Given the description of an element on the screen output the (x, y) to click on. 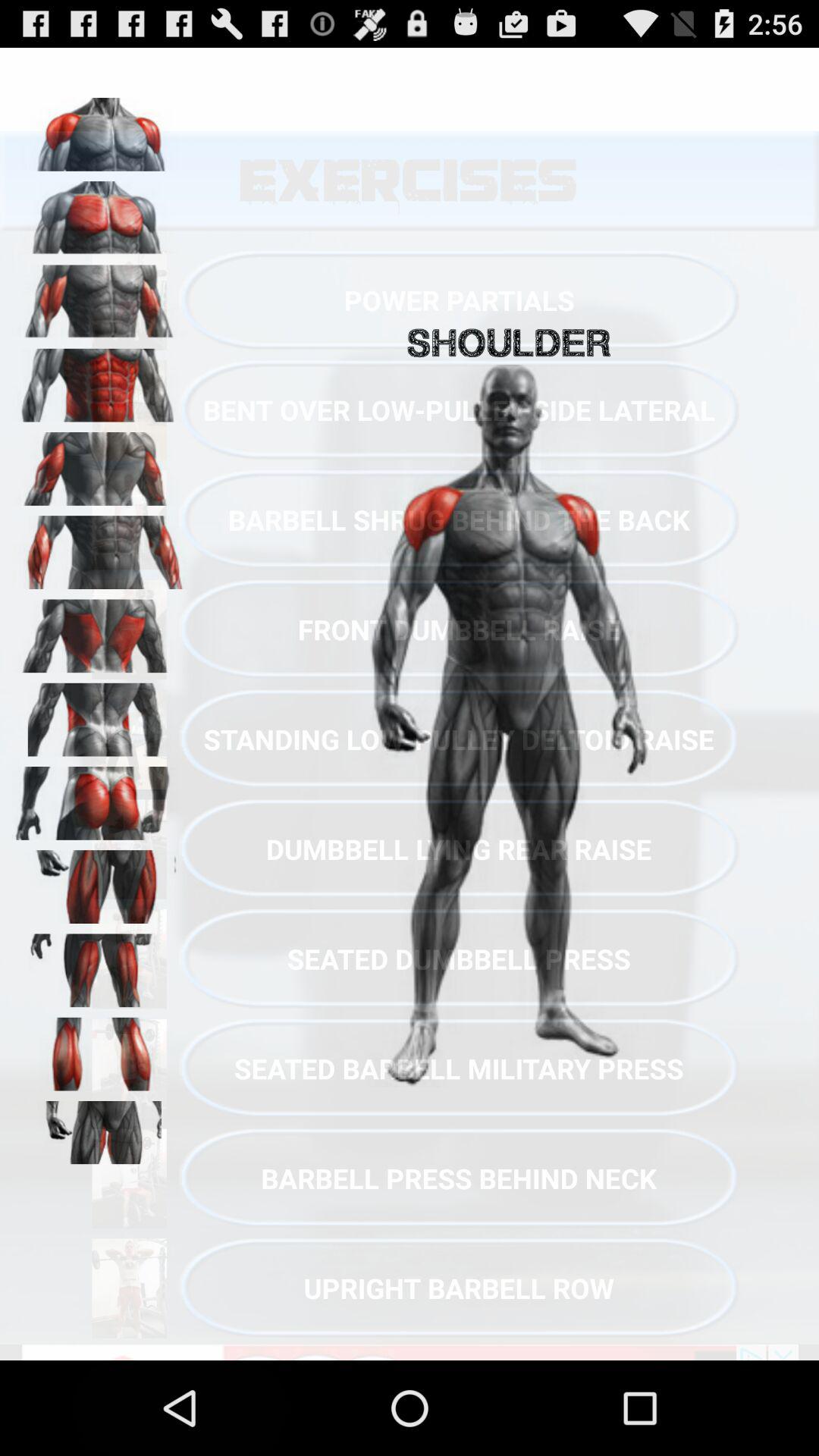
select this muscle group (99, 212)
